Given the description of an element on the screen output the (x, y) to click on. 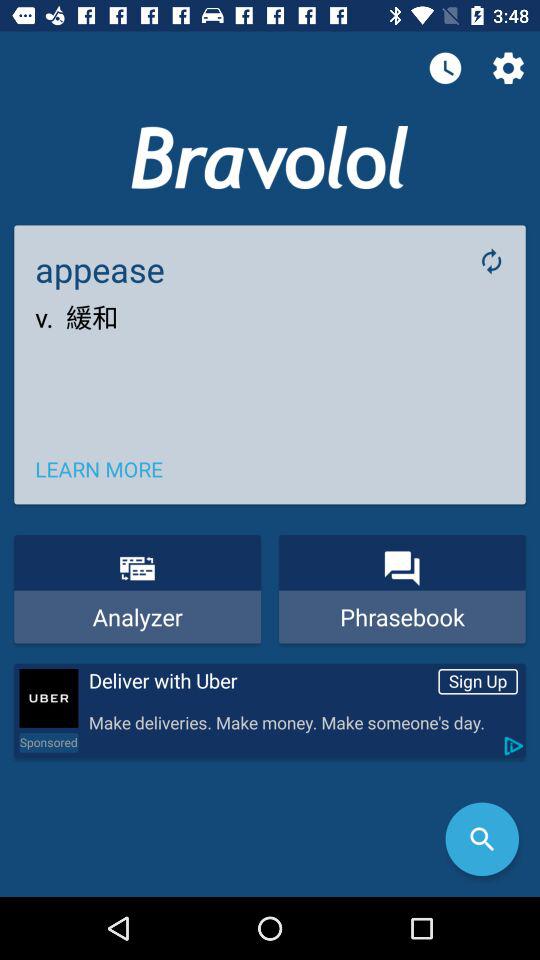
search (482, 839)
